Given the description of an element on the screen output the (x, y) to click on. 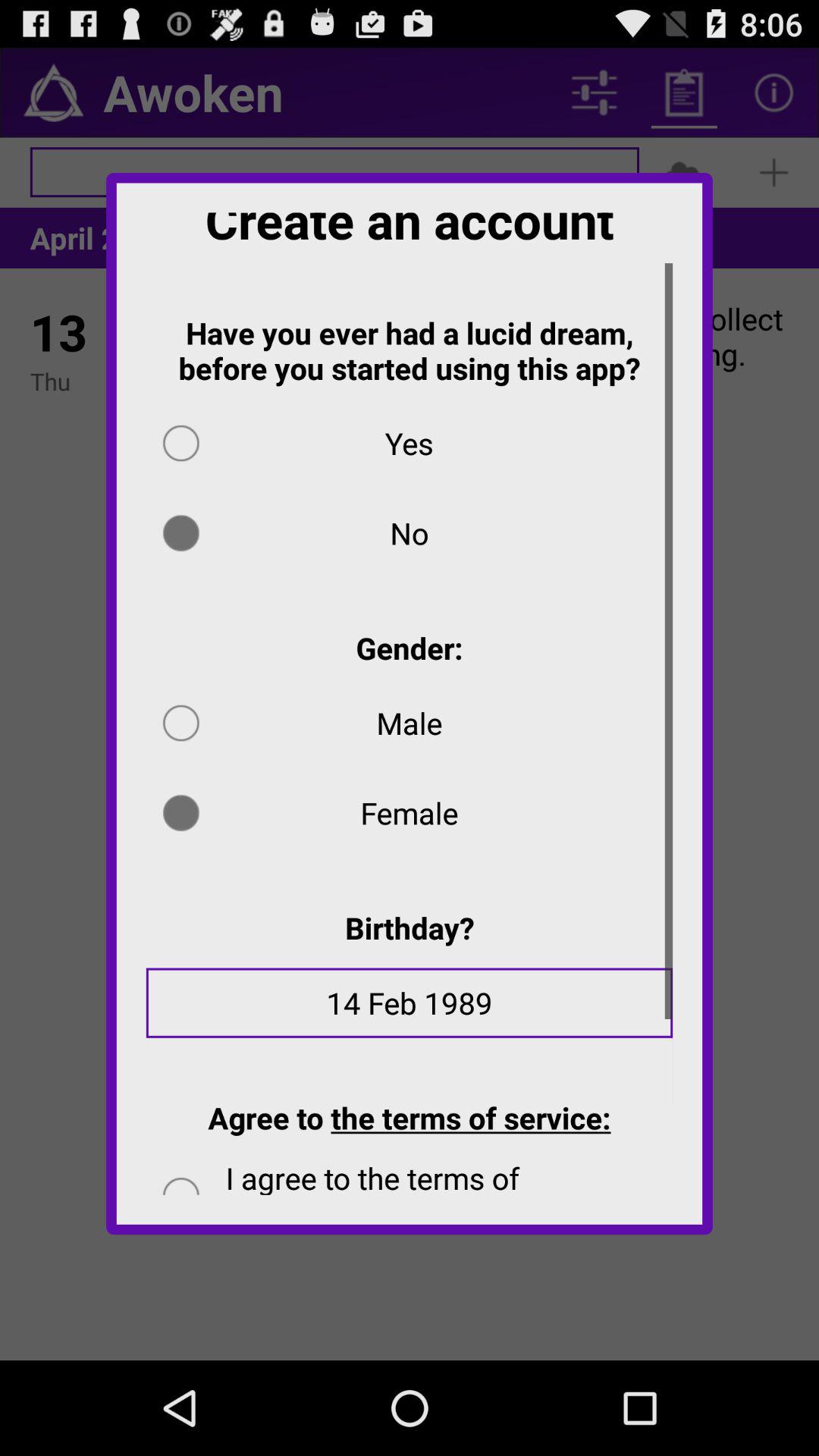
launch item above the agree to the (409, 1013)
